Given the description of an element on the screen output the (x, y) to click on. 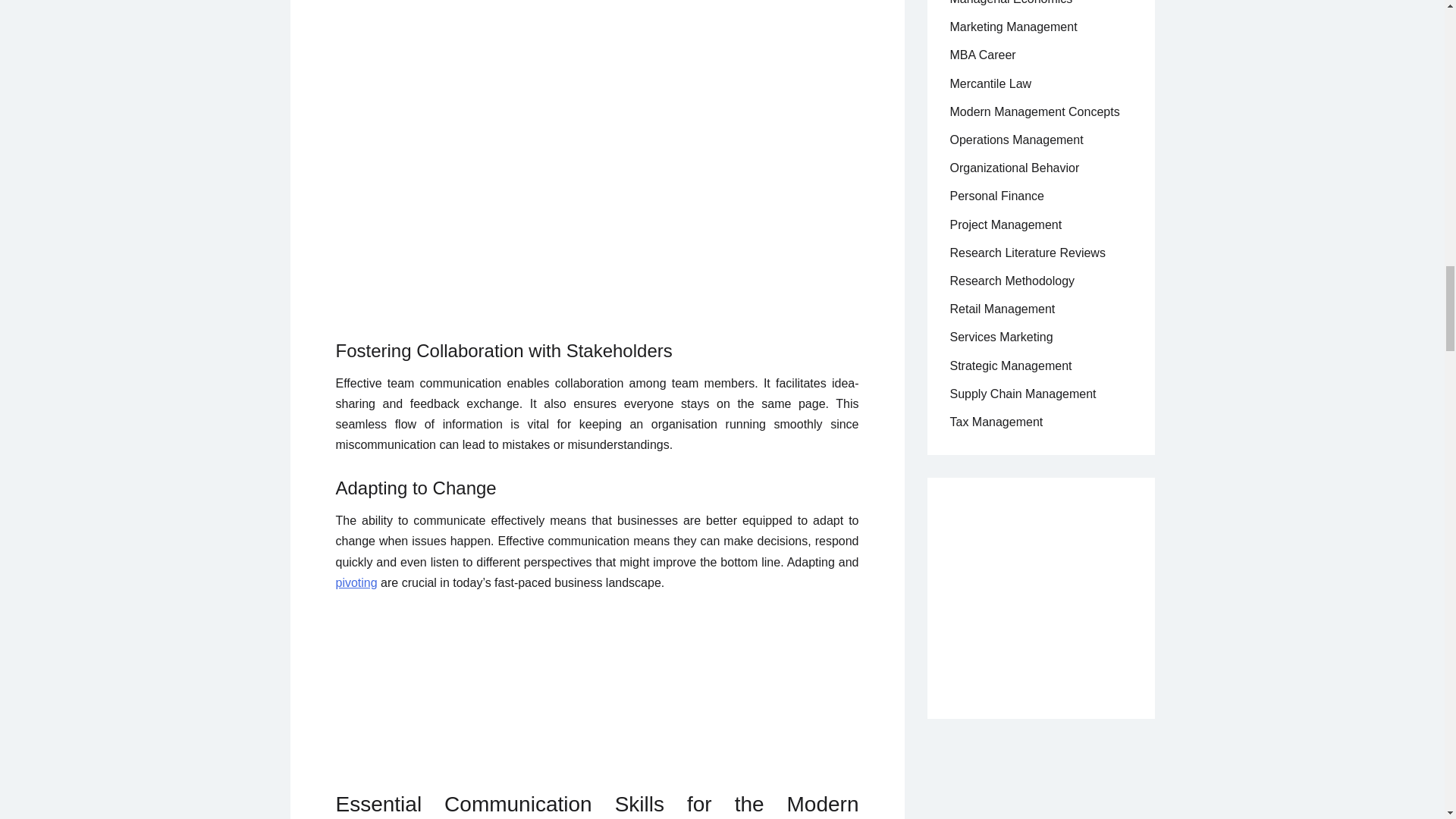
pivoting (355, 582)
